Given the description of an element on the screen output the (x, y) to click on. 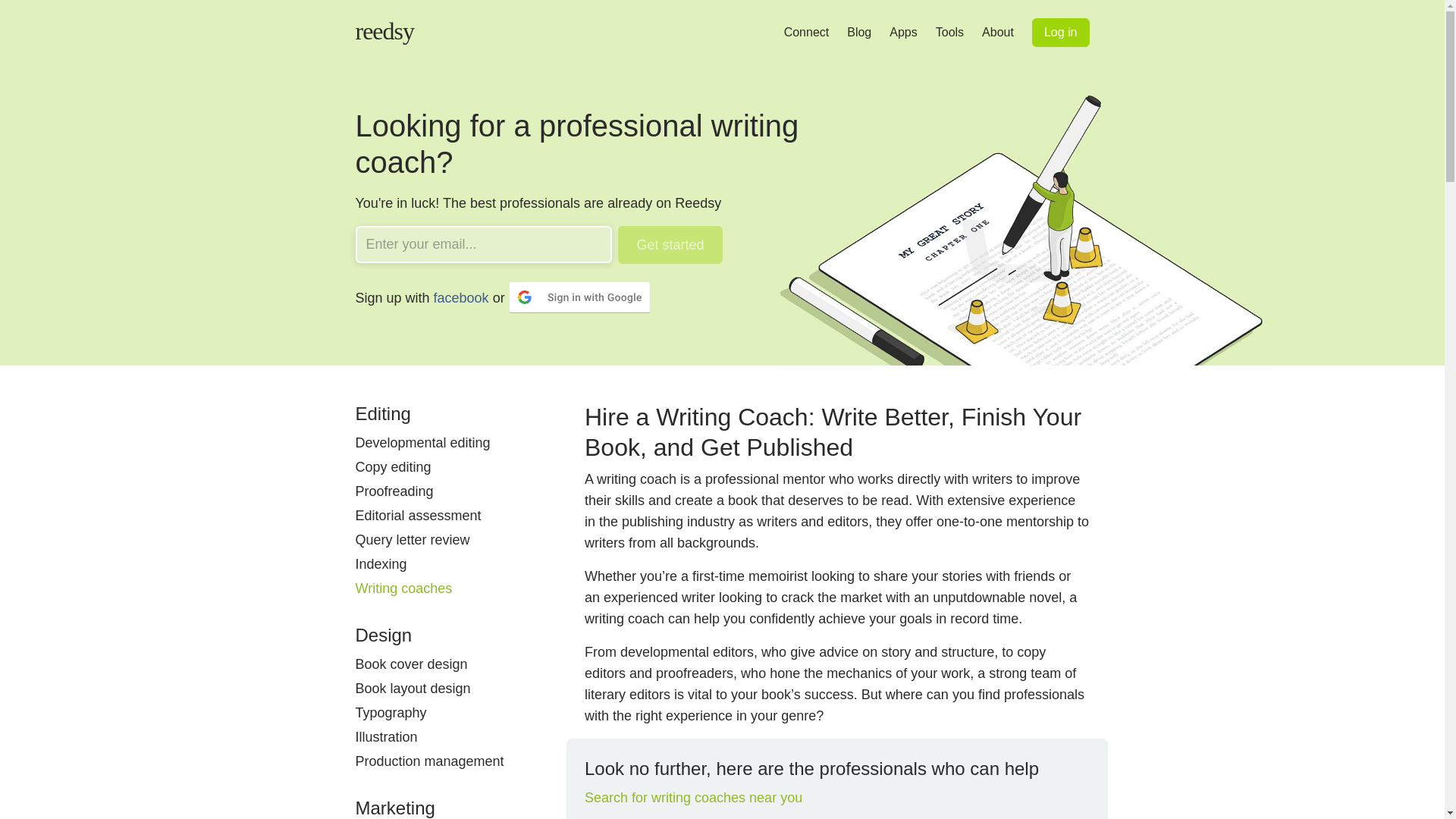
Get started (669, 244)
Blog (858, 31)
reedsy (374, 39)
Tools (949, 31)
Apps (903, 31)
About (997, 31)
Log in (1060, 32)
Connect (806, 31)
